Given the description of an element on the screen output the (x, y) to click on. 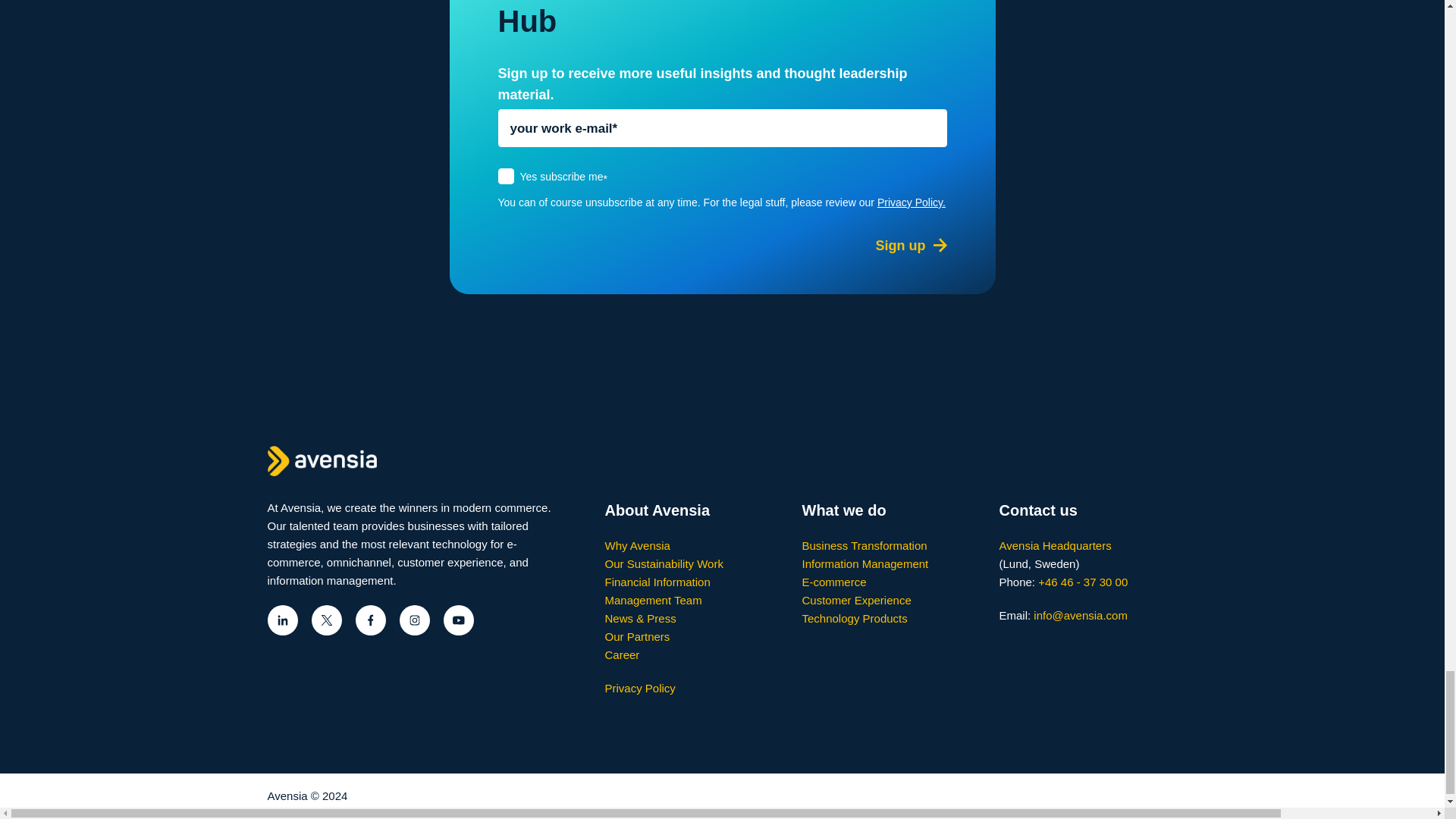
Technology Products (854, 617)
Privacy Policy (640, 687)
Business Transformation (864, 545)
E-commerce (834, 581)
Financial Information (657, 581)
Sign up (899, 245)
Our Partners (637, 635)
true (505, 176)
Customer Experience (856, 599)
Information Management (865, 563)
Nordic Headquarters (1055, 545)
Our Sustainability Work (664, 563)
Management Team (653, 599)
Career (622, 654)
Why Avensia (637, 545)
